Given the description of an element on the screen output the (x, y) to click on. 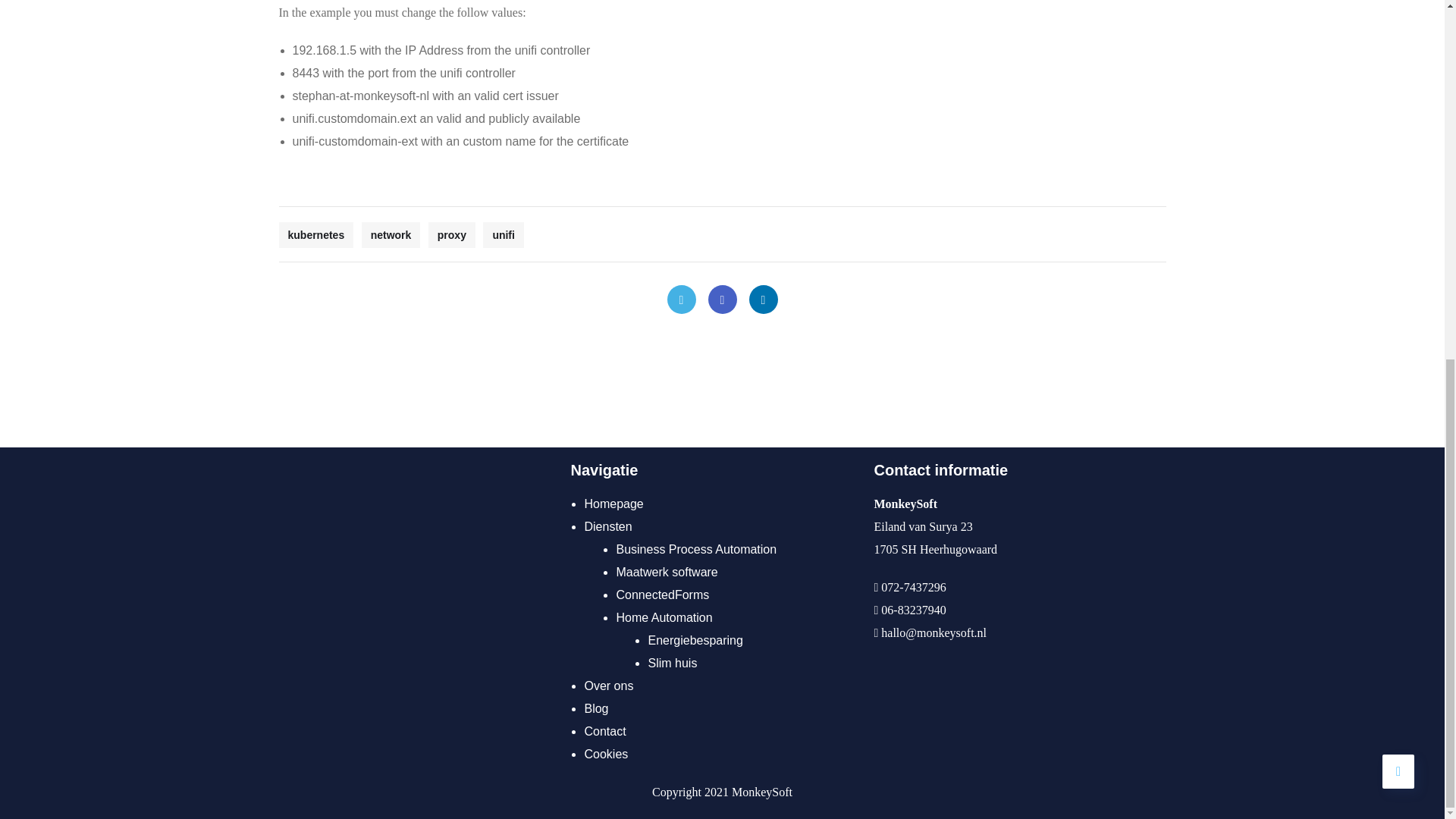
Twitter (680, 299)
kubernetes (316, 234)
proxy (452, 234)
Facebook (721, 299)
LinkedIn (763, 299)
network (390, 234)
unifi (503, 234)
